Given the description of an element on the screen output the (x, y) to click on. 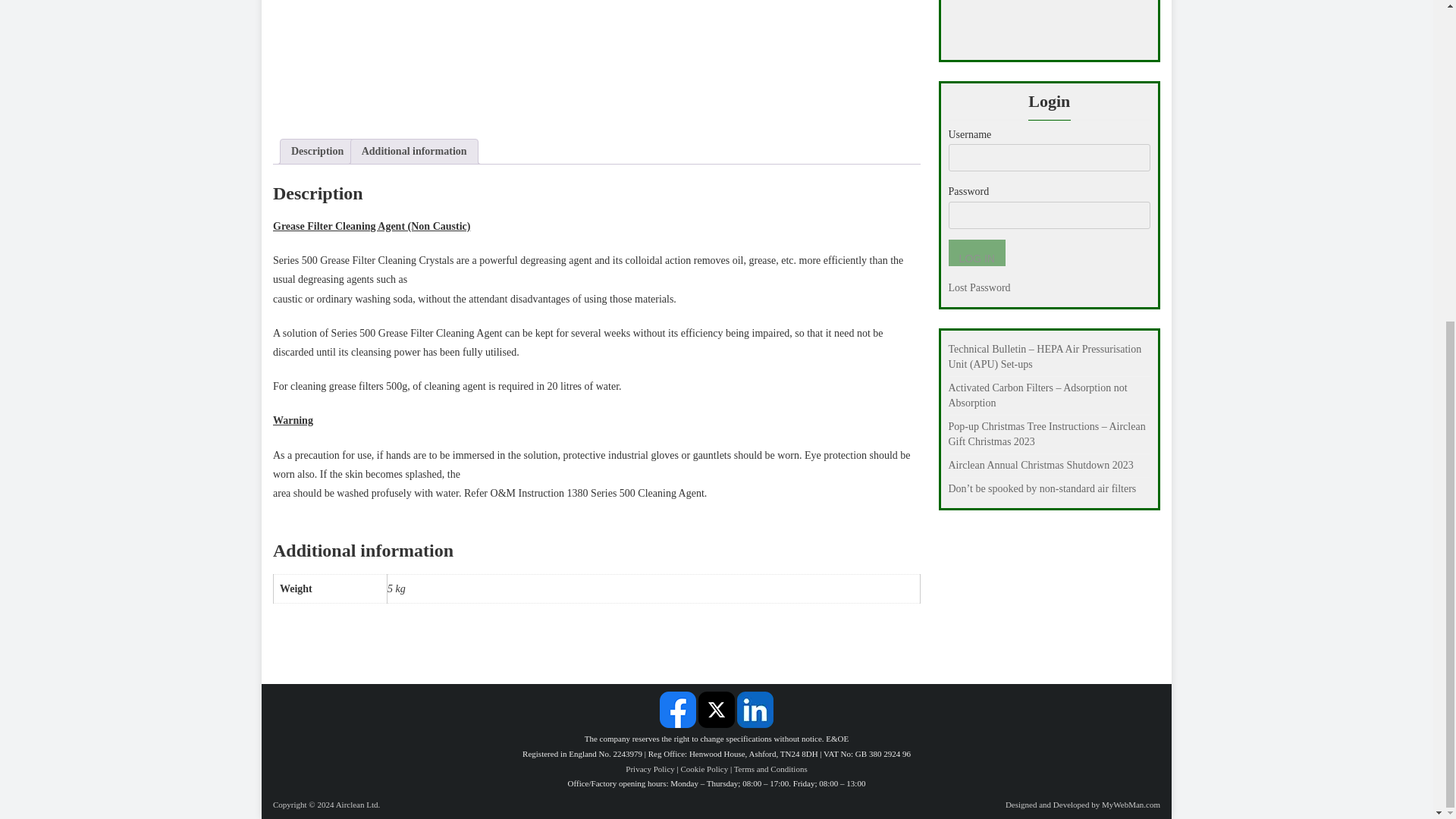
Log In (975, 252)
